Given the description of an element on the screen output the (x, y) to click on. 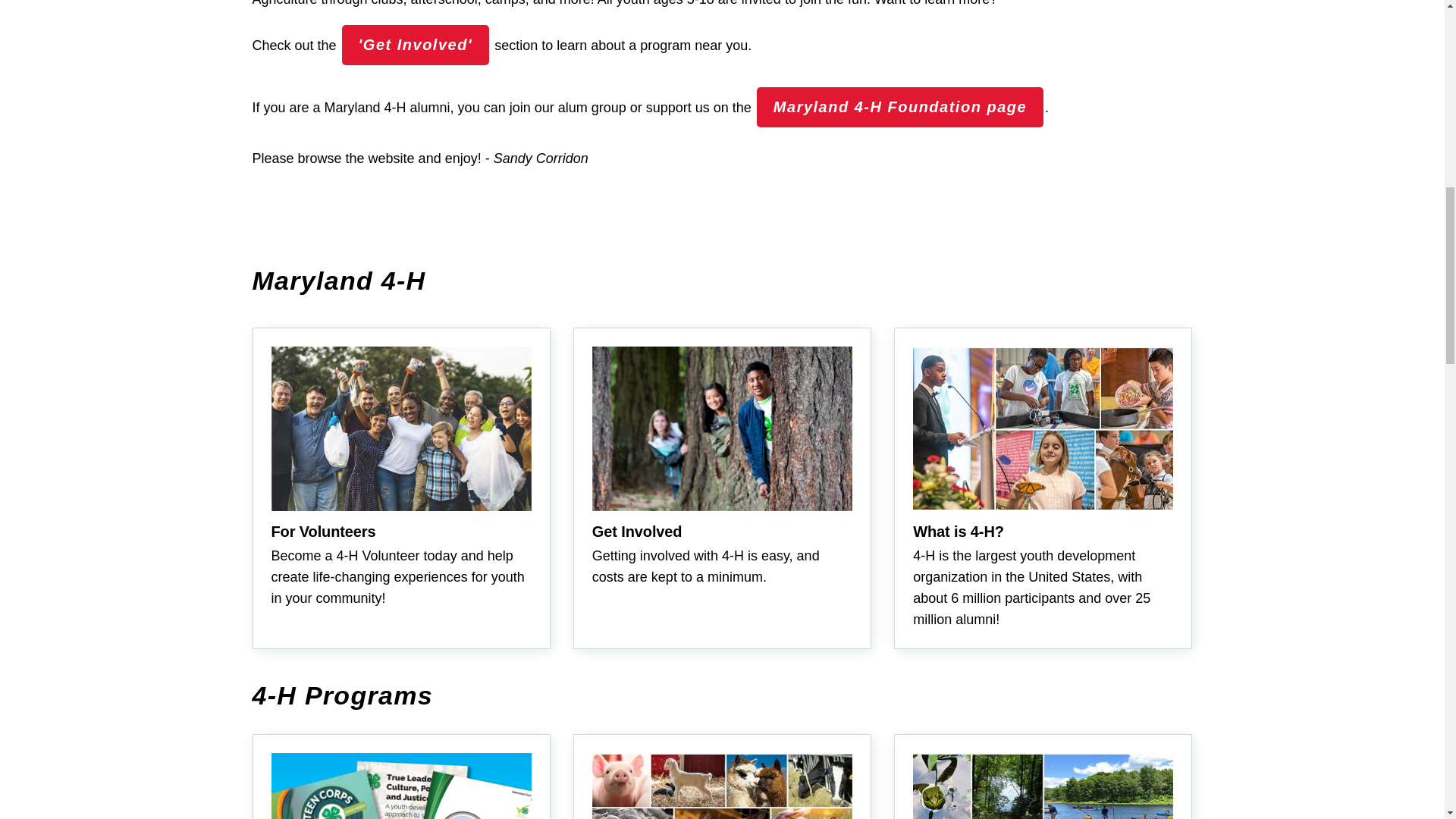
Get Involved (416, 44)
